Given the description of an element on the screen output the (x, y) to click on. 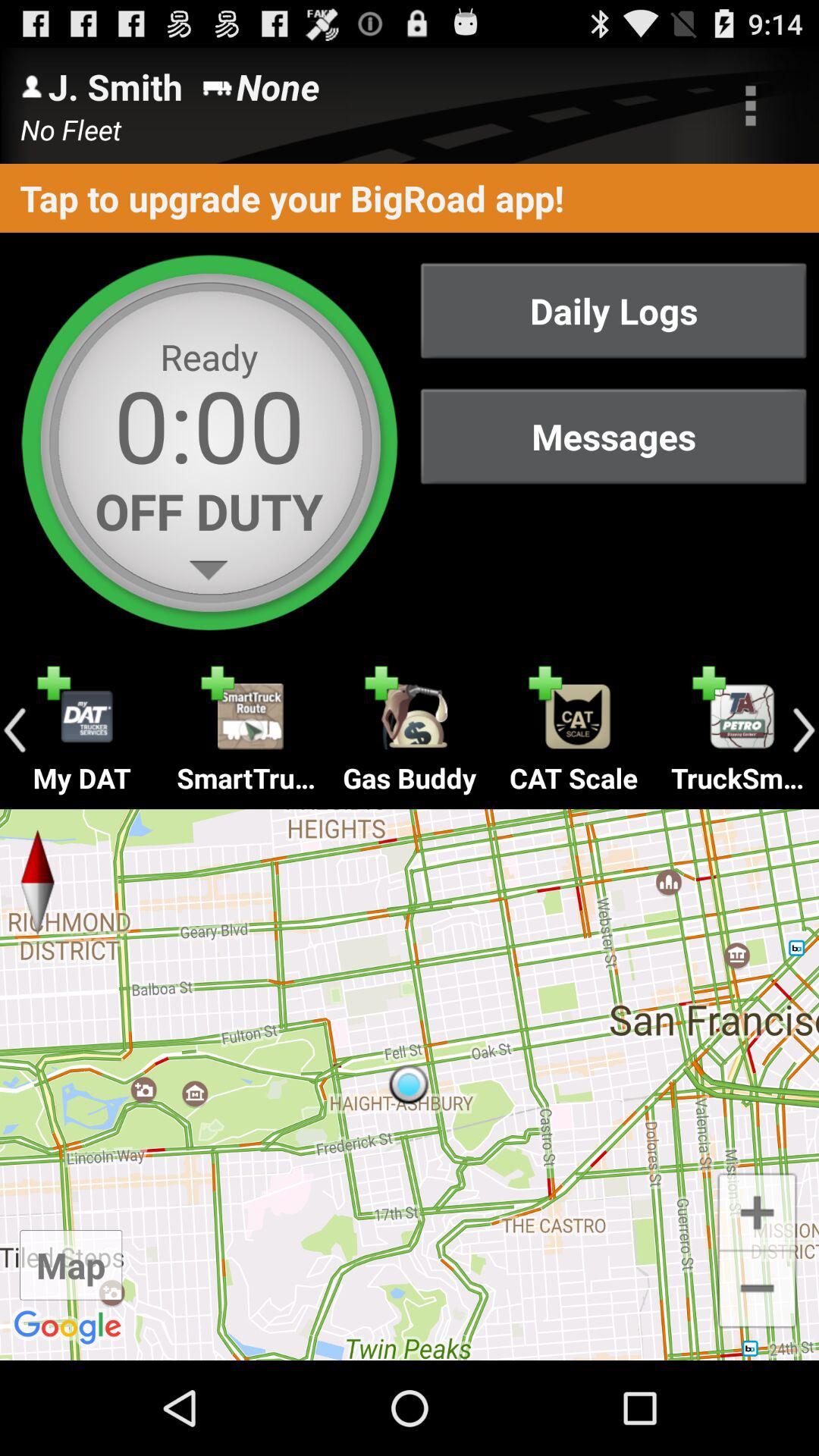
select the tap to upgrade item (409, 197)
